Given the description of an element on the screen output the (x, y) to click on. 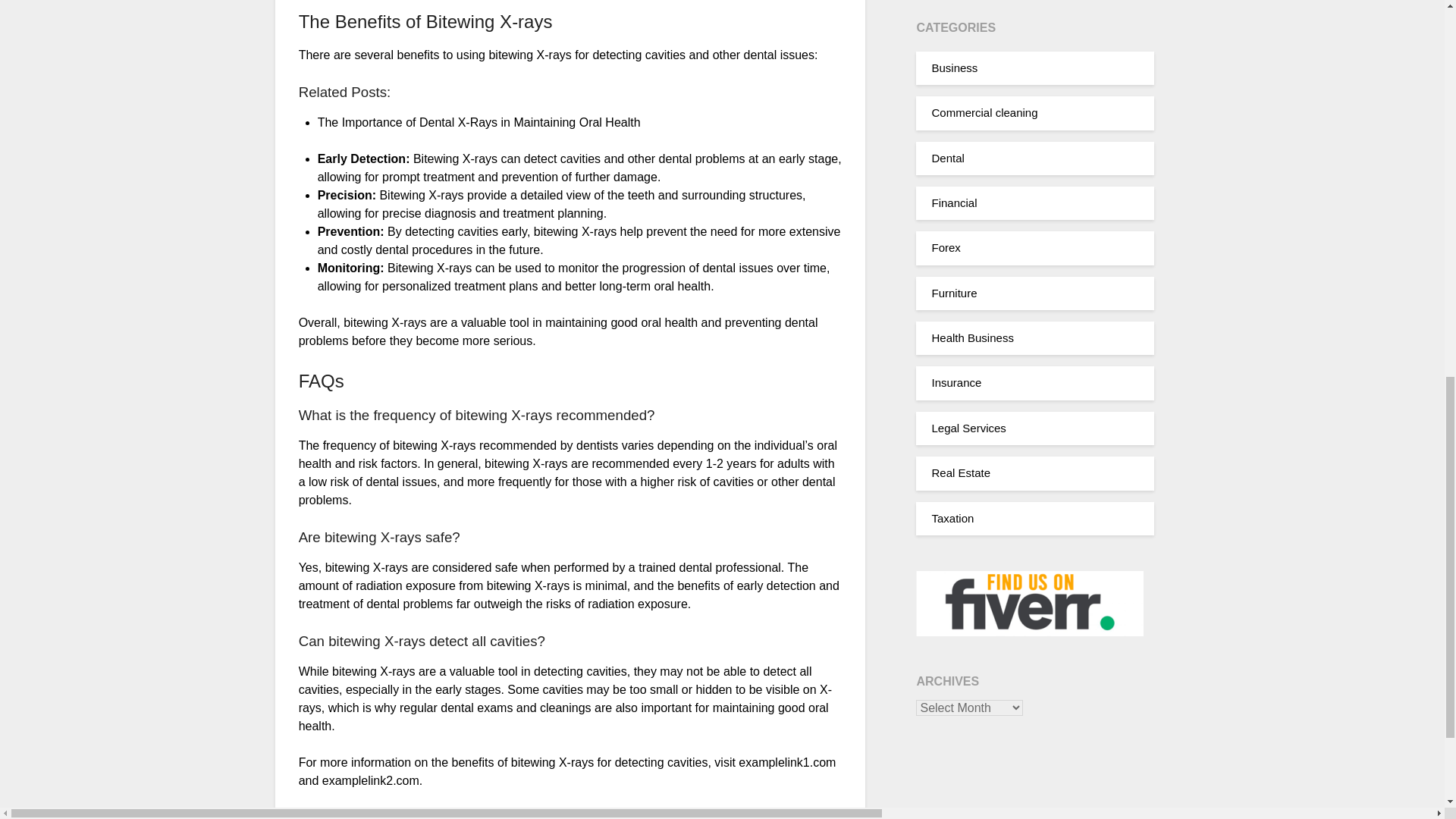
examplelink1.com (786, 762)
examplelink2.com (370, 780)
The Importance of Dental X-Rays in Maintaining Oral Health (478, 122)
